Given the description of an element on the screen output the (x, y) to click on. 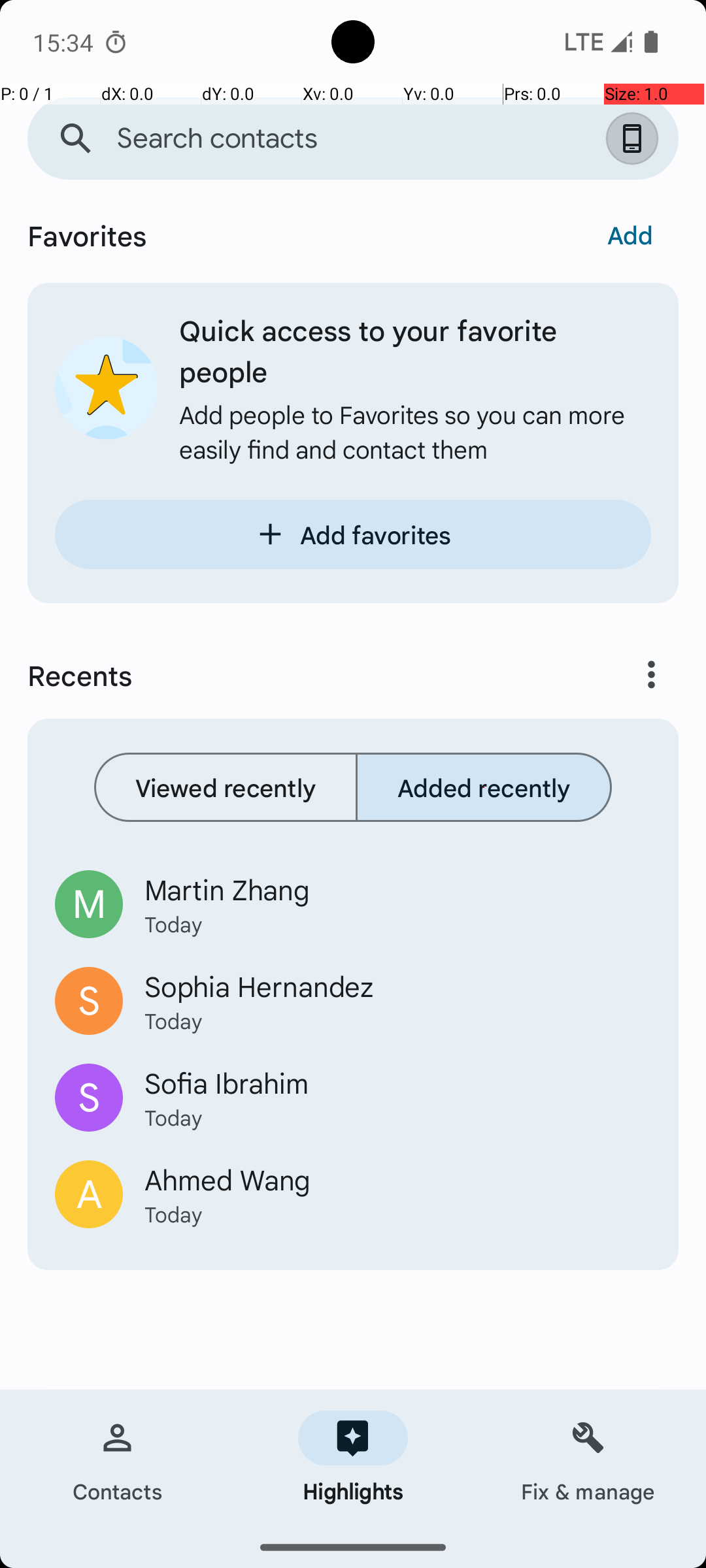
Quick access to your favorite people Element type: android.widget.TextView (415, 350)
Add people to Favorites so you can more easily find and contact them Element type: android.widget.TextView (415, 431)
Add favorites Element type: android.widget.Button (352, 534)
Recents Element type: android.widget.TextView (298, 674)
Viewed recently Element type: android.widget.CompoundButton (225, 787)
Added recently Element type: android.widget.CompoundButton (483, 787)
Martin Zhang Element type: android.widget.TextView (397, 888)
Sophia Hernandez Element type: android.widget.TextView (397, 985)
Sofia Ibrahim Element type: android.widget.TextView (397, 1082)
Ahmed Wang Element type: android.widget.TextView (397, 1178)
